Given the description of an element on the screen output the (x, y) to click on. 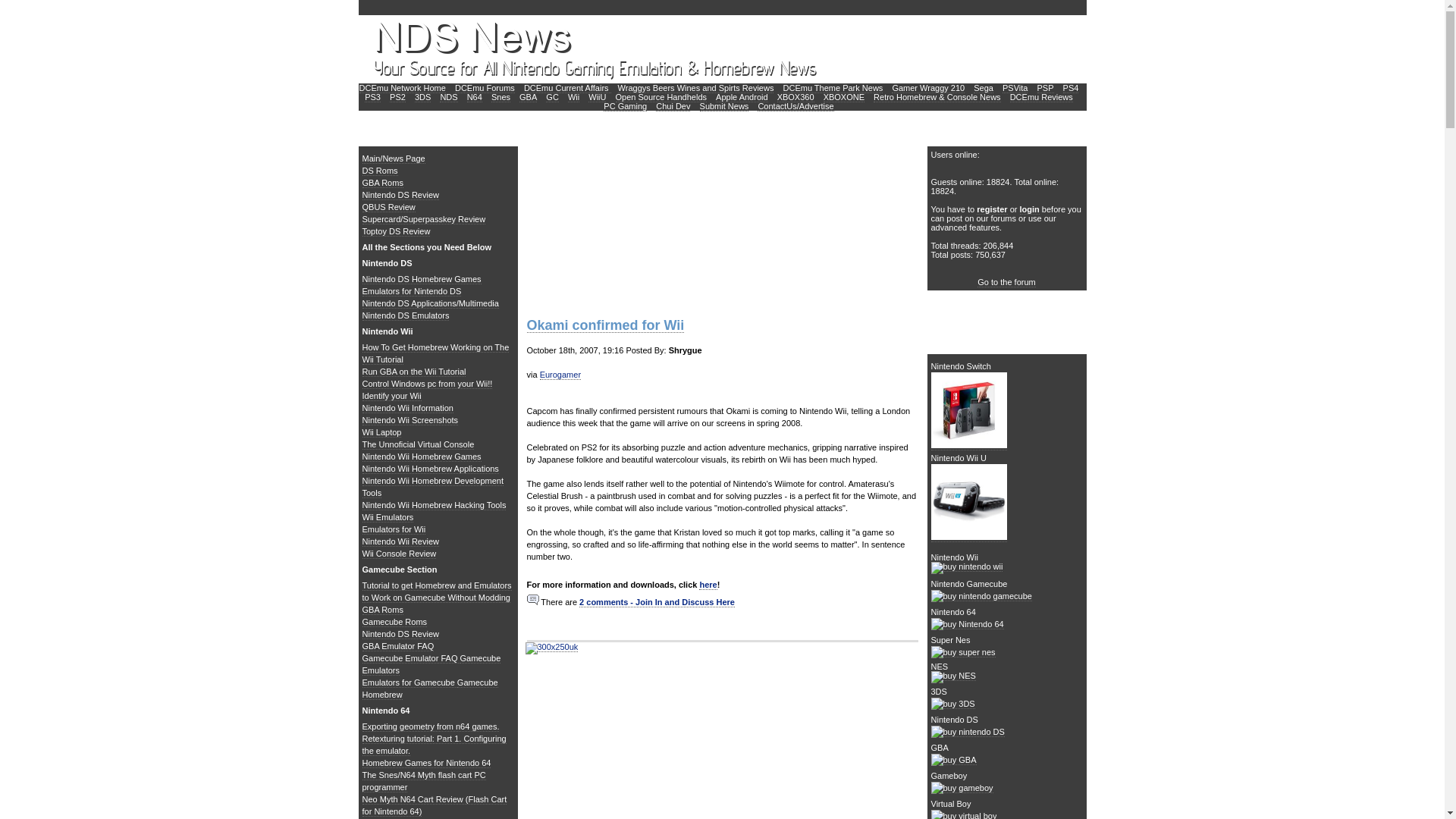
Sega (983, 88)
QBUS Review (388, 207)
PS3 (372, 97)
N64 (474, 97)
DCEmu Forums (484, 88)
XBOXONE (844, 97)
DCEmu Current Affairs (567, 88)
DCEmu Network Home (402, 88)
DS Roms (379, 171)
XBOX360 (795, 97)
Open Source Handhelds (660, 97)
NDS (448, 97)
WiiU (596, 97)
PS4 (1070, 88)
PC Gaming (625, 106)
